Given the description of an element on the screen output the (x, y) to click on. 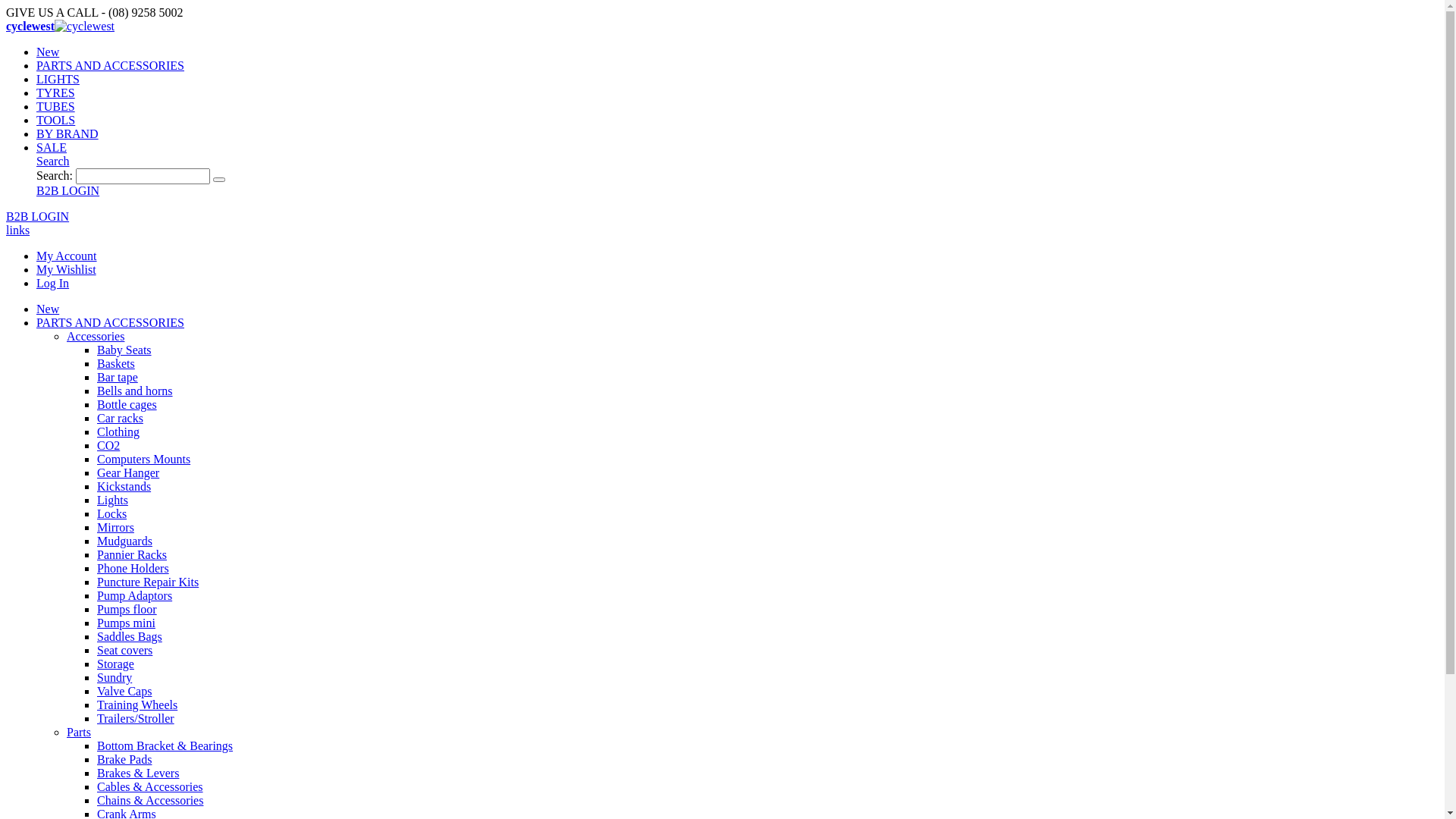
Brake Pads Element type: text (124, 759)
Search Element type: text (52, 160)
Pump Adaptors Element type: text (134, 595)
Mudguards Element type: text (124, 540)
Lights Element type: text (112, 499)
Computers Mounts Element type: text (143, 458)
Puncture Repair Kits Element type: text (147, 581)
Parts Element type: text (78, 731)
links Element type: text (17, 229)
Bottle cages Element type: text (126, 404)
PARTS AND ACCESSORIES Element type: text (110, 65)
Kickstands Element type: text (123, 486)
Pannier Racks Element type: text (131, 554)
Chains & Accessories Element type: text (150, 799)
TUBES Element type: text (55, 106)
New Element type: text (47, 51)
Training Wheels Element type: text (137, 704)
Storage Element type: text (115, 663)
Bells and horns Element type: text (134, 390)
My Wishlist Element type: text (66, 269)
LIGHTS Element type: text (57, 78)
Baby Seats Element type: text (124, 349)
Sundry Element type: text (114, 677)
PARTS AND ACCESSORIES Element type: text (110, 322)
B2B LOGIN Element type: text (37, 216)
CO2 Element type: text (108, 445)
B2B LOGIN Element type: text (67, 190)
Pumps mini Element type: text (126, 622)
Car racks Element type: text (120, 417)
TOOLS Element type: text (55, 119)
Mirrors Element type: text (115, 526)
SALE Element type: text (51, 147)
Log In Element type: text (52, 282)
Bottom Bracket & Bearings Element type: text (164, 745)
Cables & Accessories Element type: text (150, 786)
Bar tape Element type: text (117, 376)
Accessories Element type: text (95, 335)
My Account Element type: text (66, 255)
Brakes & Levers Element type: text (137, 772)
Seat covers Element type: text (124, 649)
Gear Hanger Element type: text (128, 472)
Baskets Element type: text (115, 363)
BY BRAND Element type: text (67, 133)
Search Element type: hover (219, 179)
New Element type: text (47, 308)
Pumps floor Element type: text (126, 608)
Clothing Element type: text (118, 431)
Saddles Bags Element type: text (129, 636)
Phone Holders Element type: text (133, 567)
Valve Caps Element type: text (124, 690)
TYRES Element type: text (55, 92)
cyclewest Element type: text (60, 25)
Trailers/Stroller Element type: text (135, 718)
Locks Element type: text (111, 513)
